Given the description of an element on the screen output the (x, y) to click on. 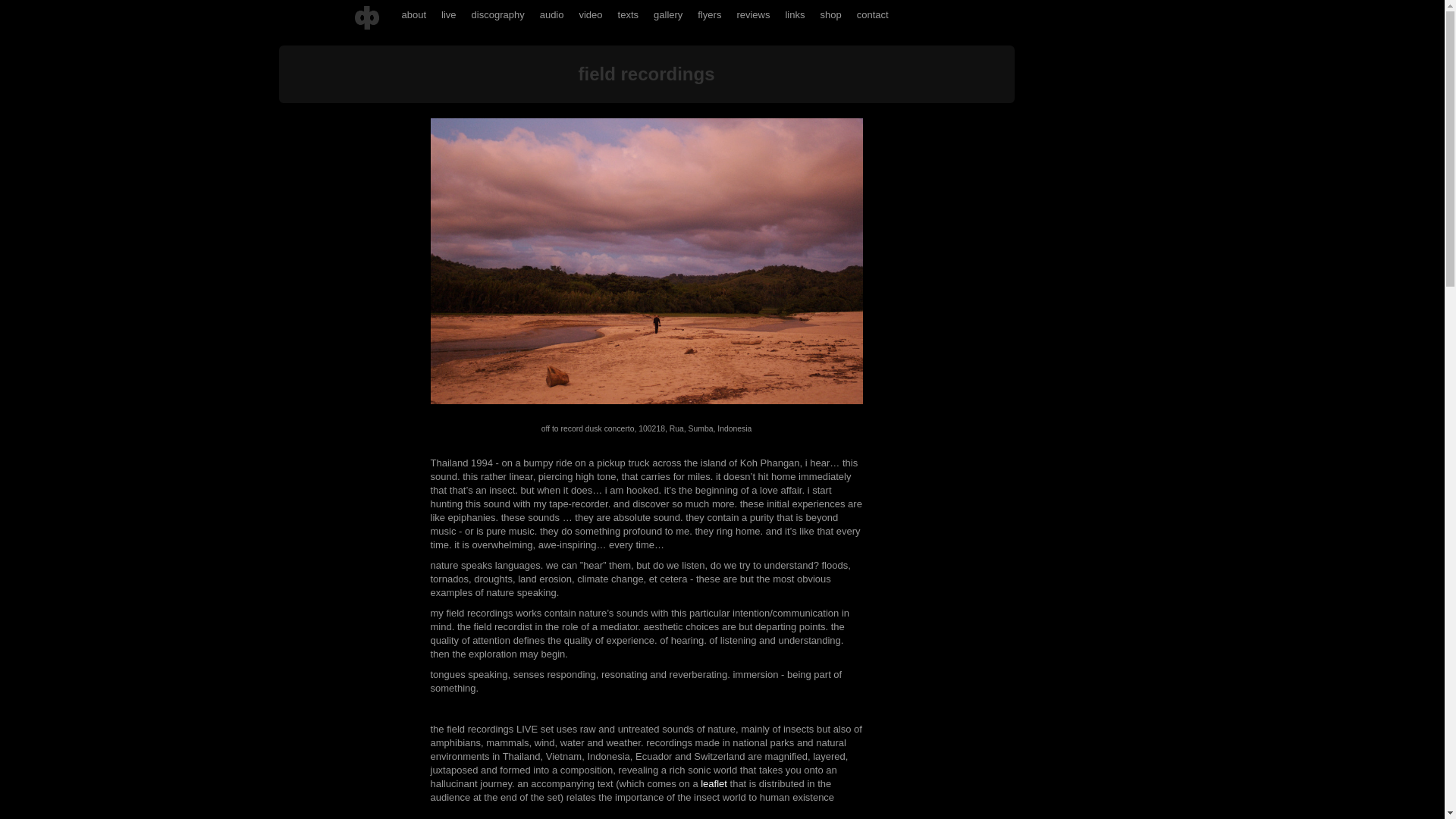
contact (872, 15)
about (413, 15)
leaflet (713, 783)
shop (830, 15)
flyers (709, 15)
video (590, 15)
discography (498, 15)
reviews (753, 15)
texts (628, 15)
photo by Viviana Druga (646, 260)
audio (552, 15)
gallery (668, 15)
links (794, 15)
live (448, 15)
